Given the description of an element on the screen output the (x, y) to click on. 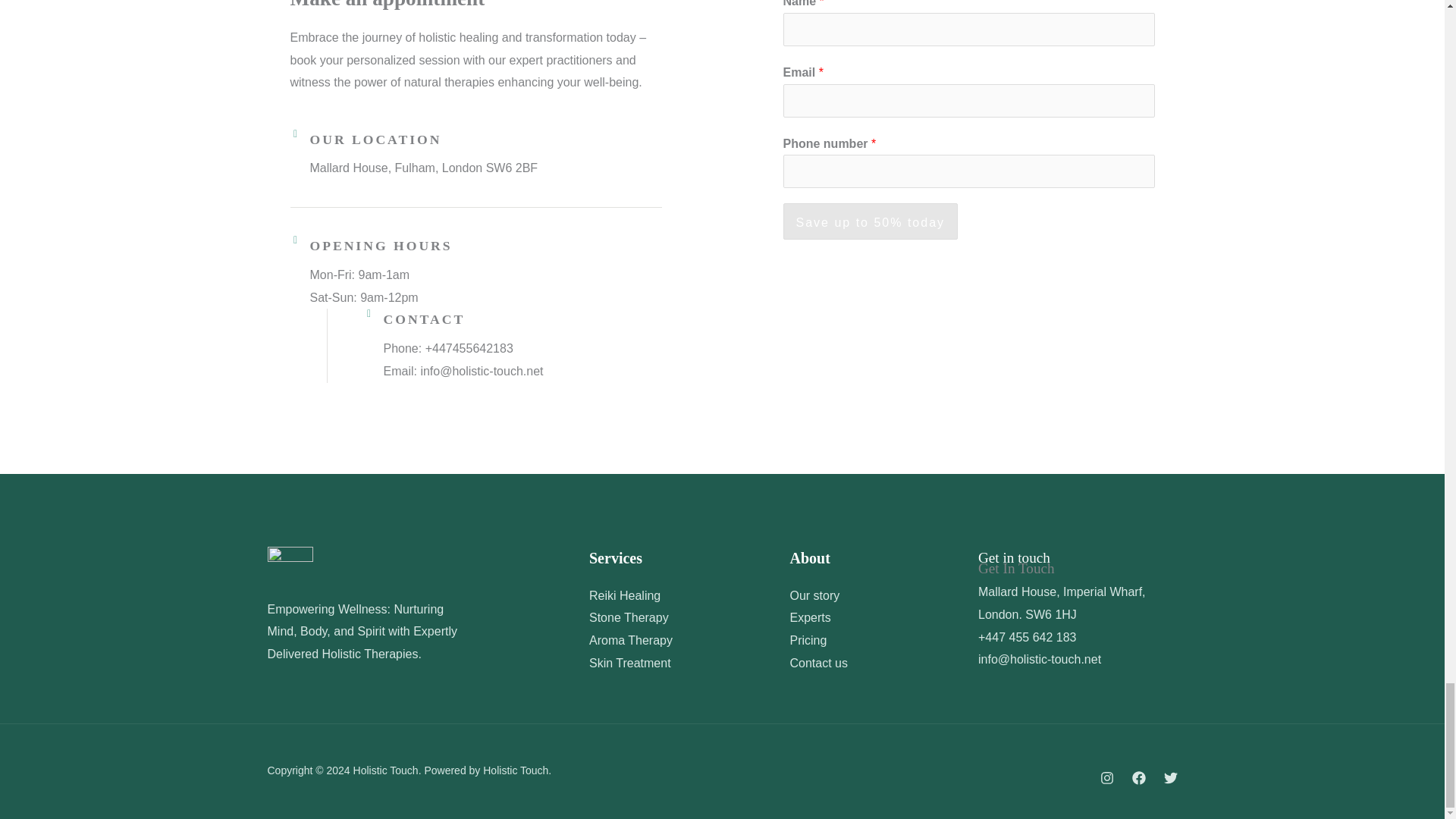
Skin Treatment (630, 662)
Contact us (818, 662)
Aroma Therapy (630, 640)
Our story (815, 594)
Pricing (808, 640)
Reiki Healing (625, 594)
Stone Therapy (628, 617)
Experts (810, 617)
